Given the description of an element on the screen output the (x, y) to click on. 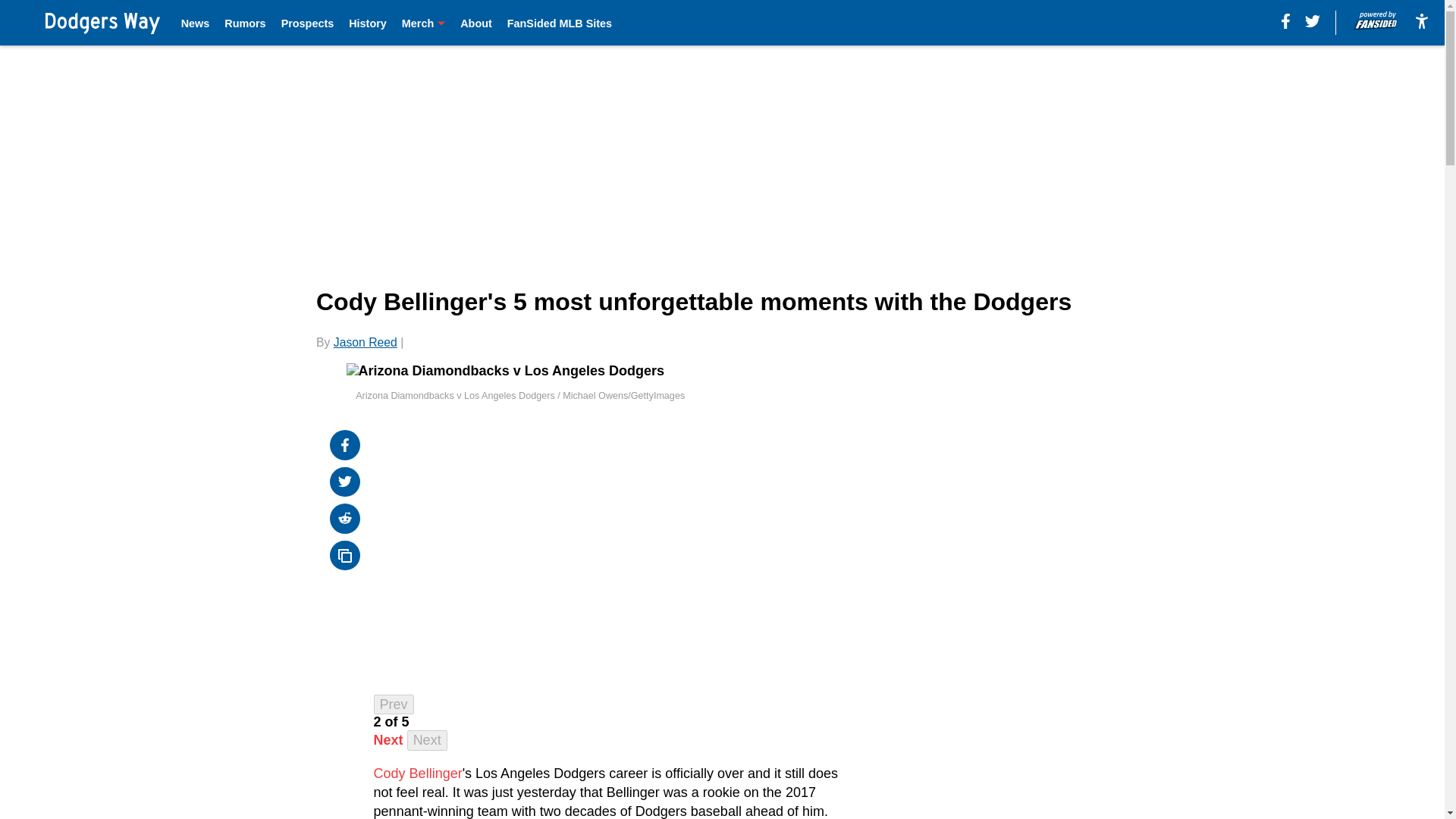
Jason Reed (365, 341)
Next (388, 739)
News (194, 23)
FanSided MLB Sites (558, 23)
Cody Bellinger (418, 773)
Rumors (244, 23)
History (368, 23)
About (476, 23)
Next (426, 740)
Prospects (307, 23)
